Given the description of an element on the screen output the (x, y) to click on. 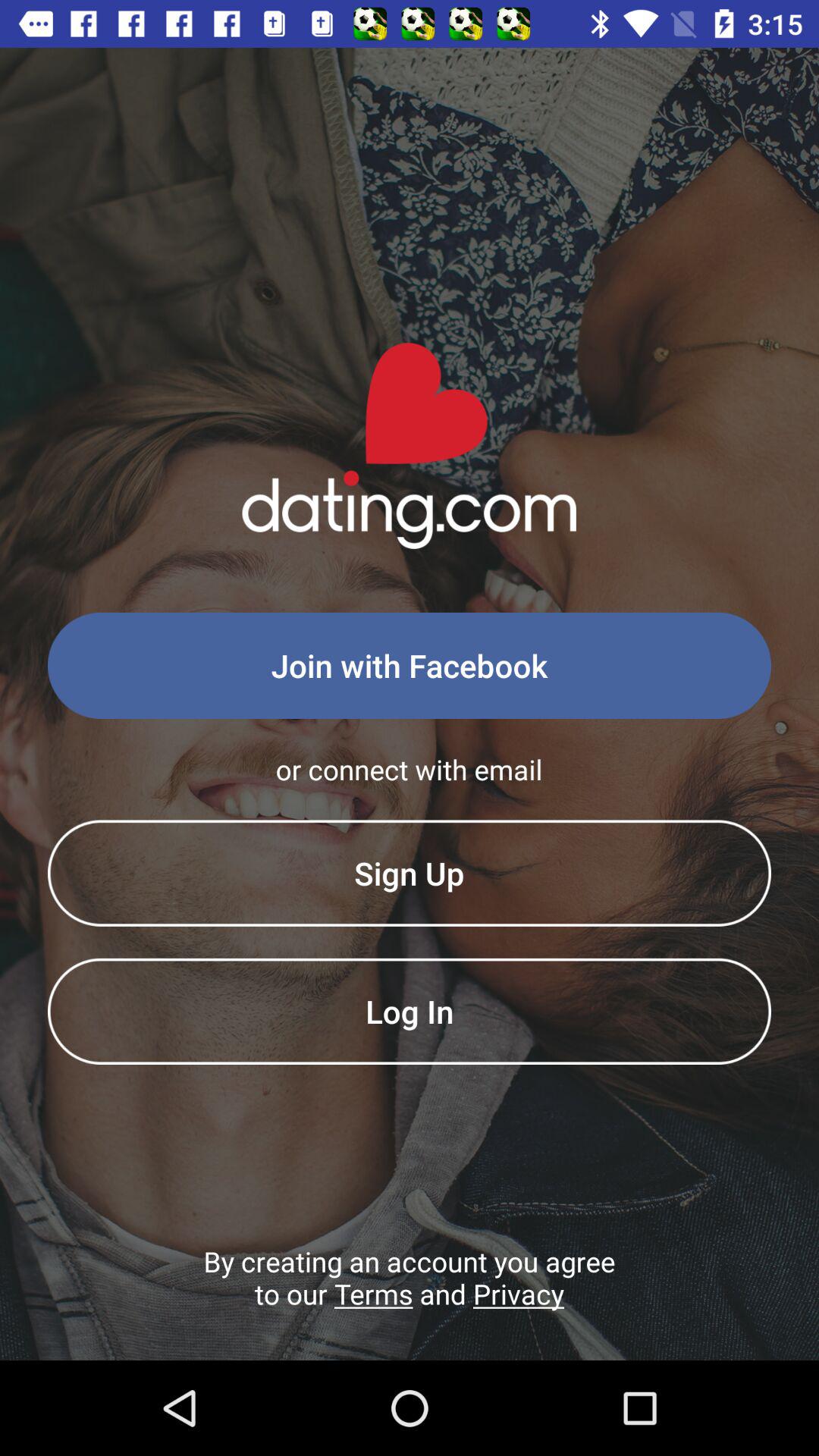
scroll to join with facebook (409, 665)
